Given the description of an element on the screen output the (x, y) to click on. 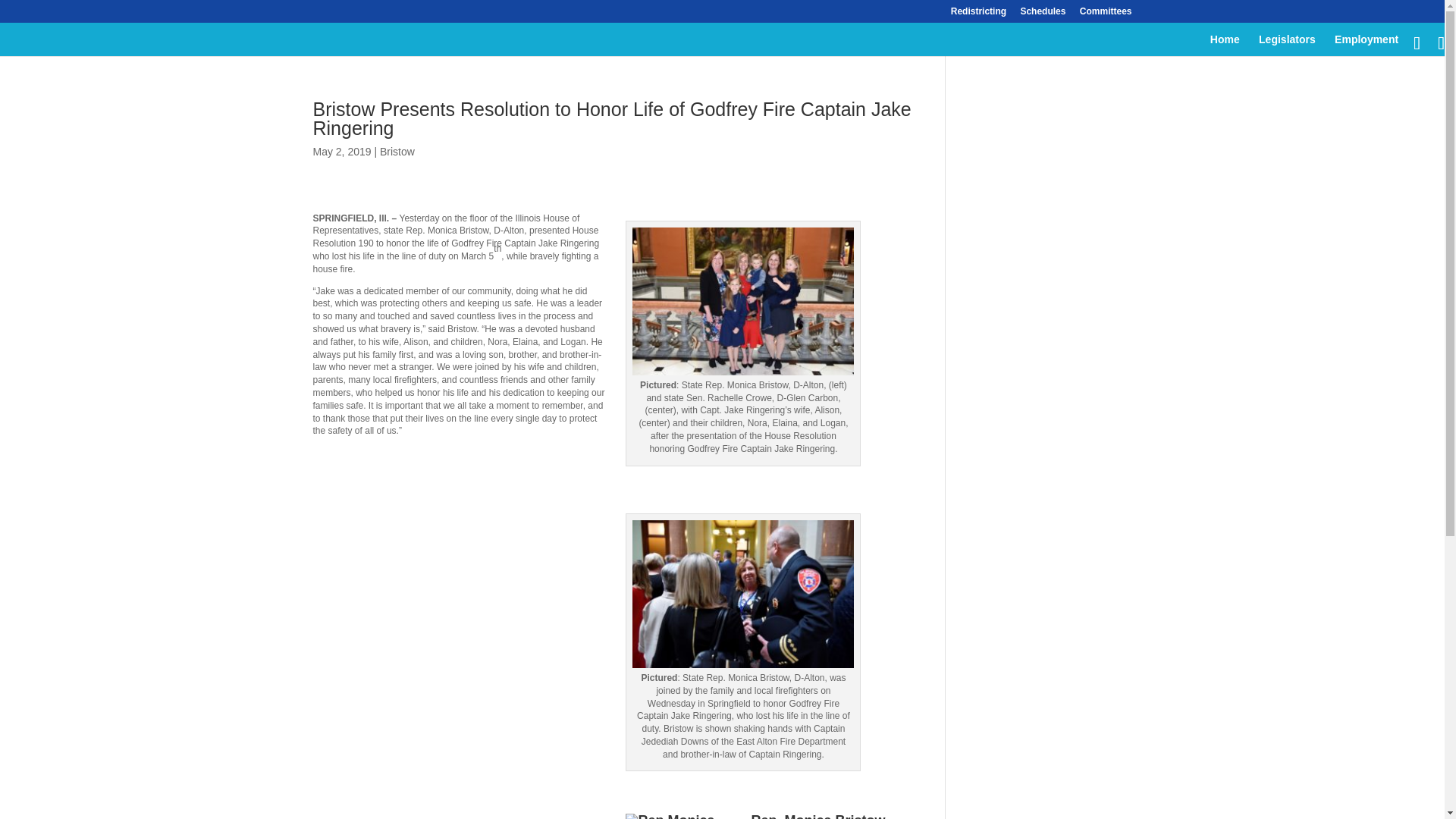
Schedules (1042, 14)
Committees (1106, 14)
Redistricting (978, 14)
Legislators (1287, 45)
Employment (1366, 45)
Home (1224, 45)
Bristow (397, 151)
